Given the description of an element on the screen output the (x, y) to click on. 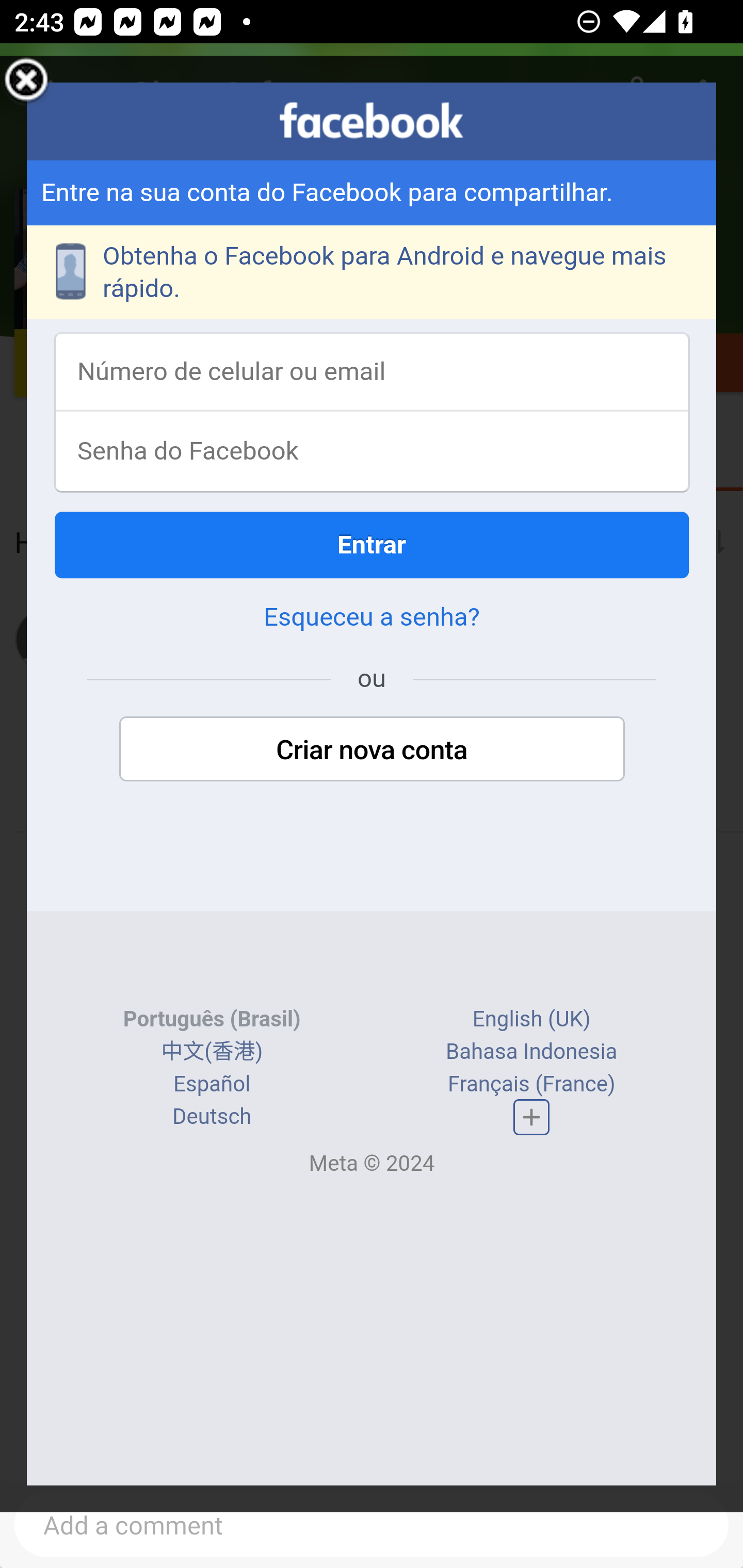
facebook (372, 121)
Entrar (372, 546)
Esqueceu a senha? (371, 618)
Criar nova conta (371, 751)
English (UK) (531, 1019)
中文(香港) (211, 1052)
Bahasa Indonesia (531, 1052)
Español (212, 1085)
Français (France) (530, 1085)
Lista completa de idiomas (531, 1118)
Deutsch (211, 1116)
